Given the description of an element on the screen output the (x, y) to click on. 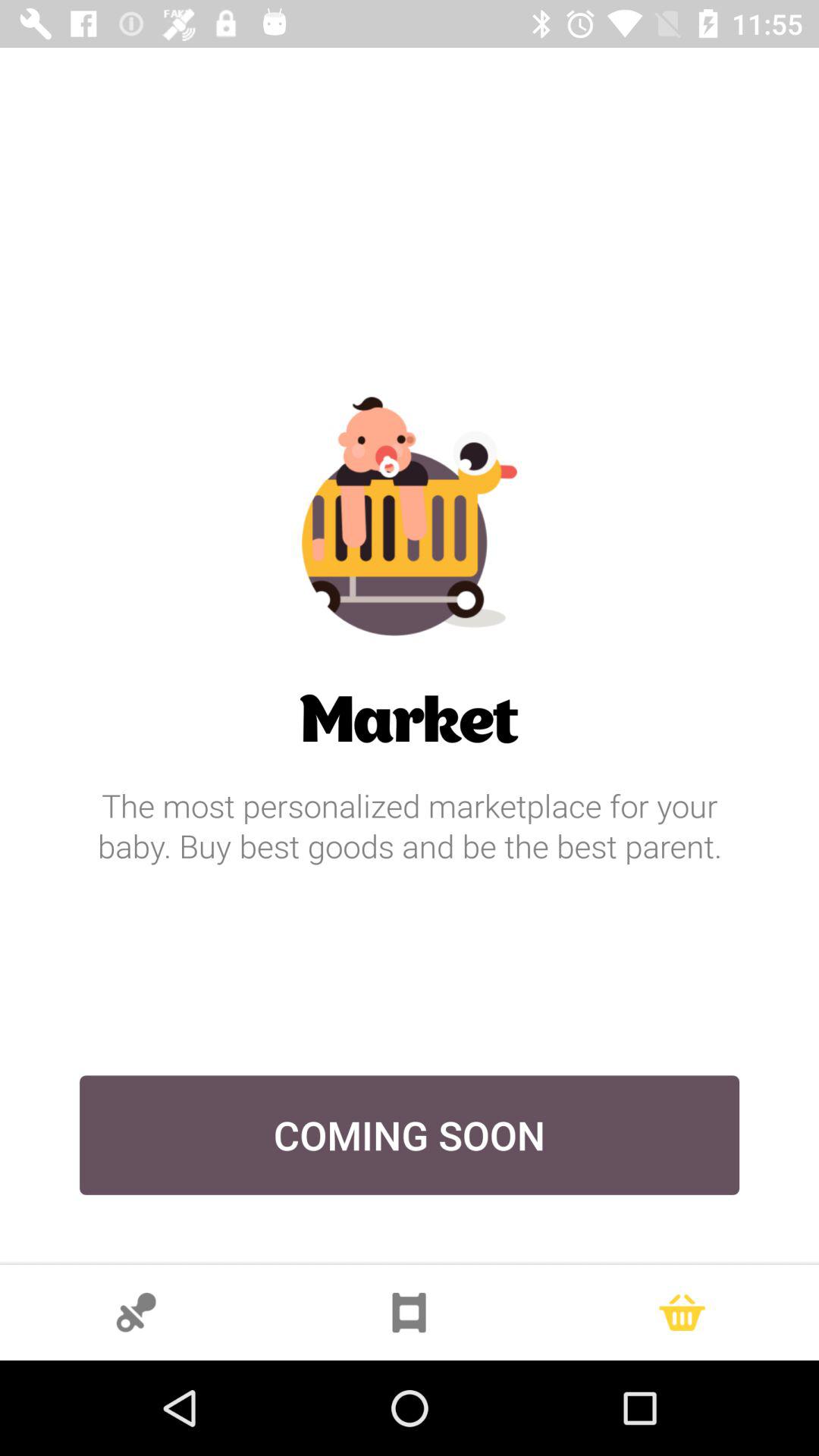
select the item at the bottom right corner (682, 1312)
